Given the description of an element on the screen output the (x, y) to click on. 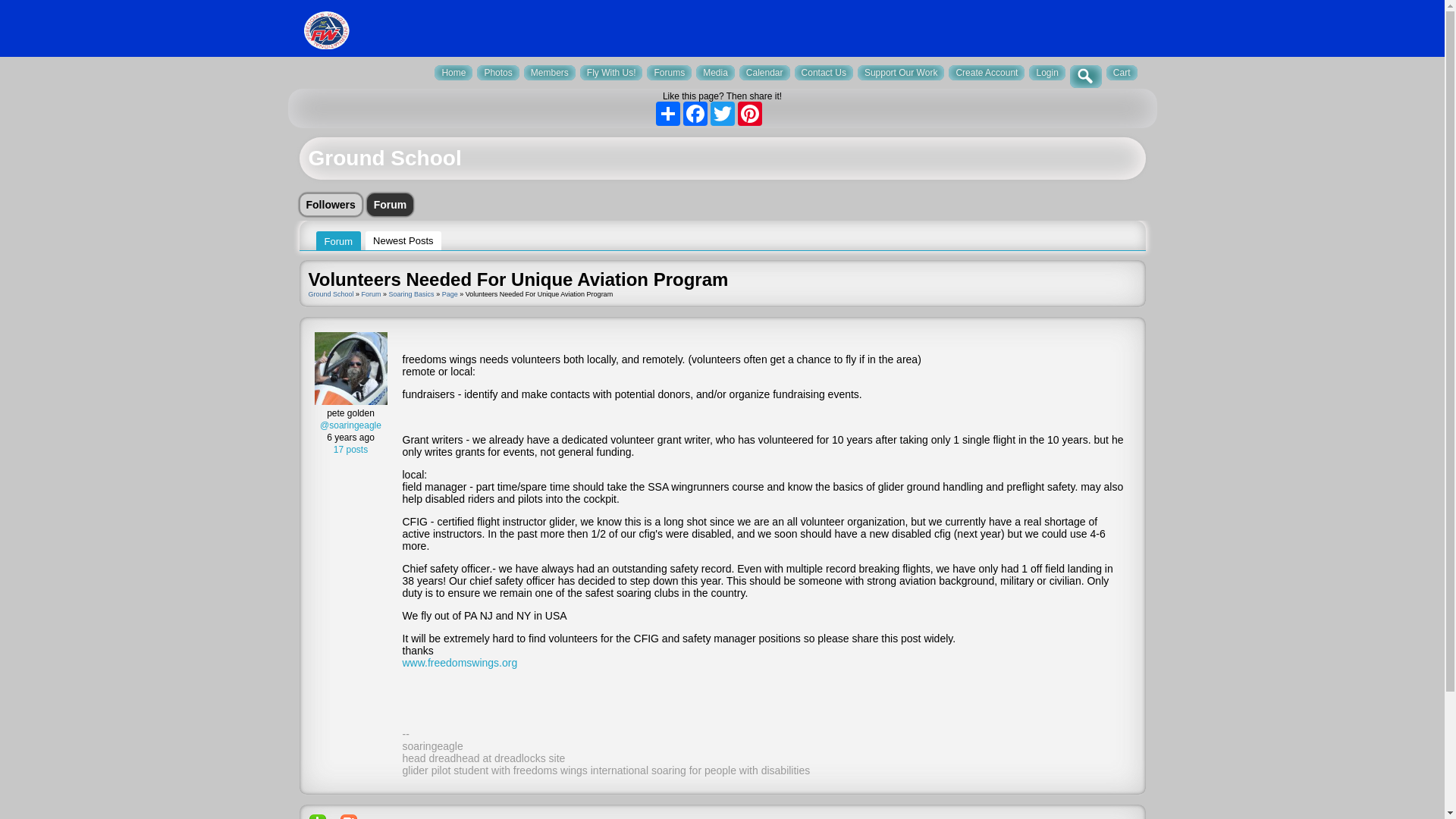
Dislike (348, 816)
Create Account (987, 72)
Login (1046, 72)
search (1086, 76)
Media (715, 72)
Fly With Us! (611, 72)
Calendar (764, 72)
search (1085, 76)
Support Our Work (900, 72)
Contact Us (823, 72)
